Given the description of an element on the screen output the (x, y) to click on. 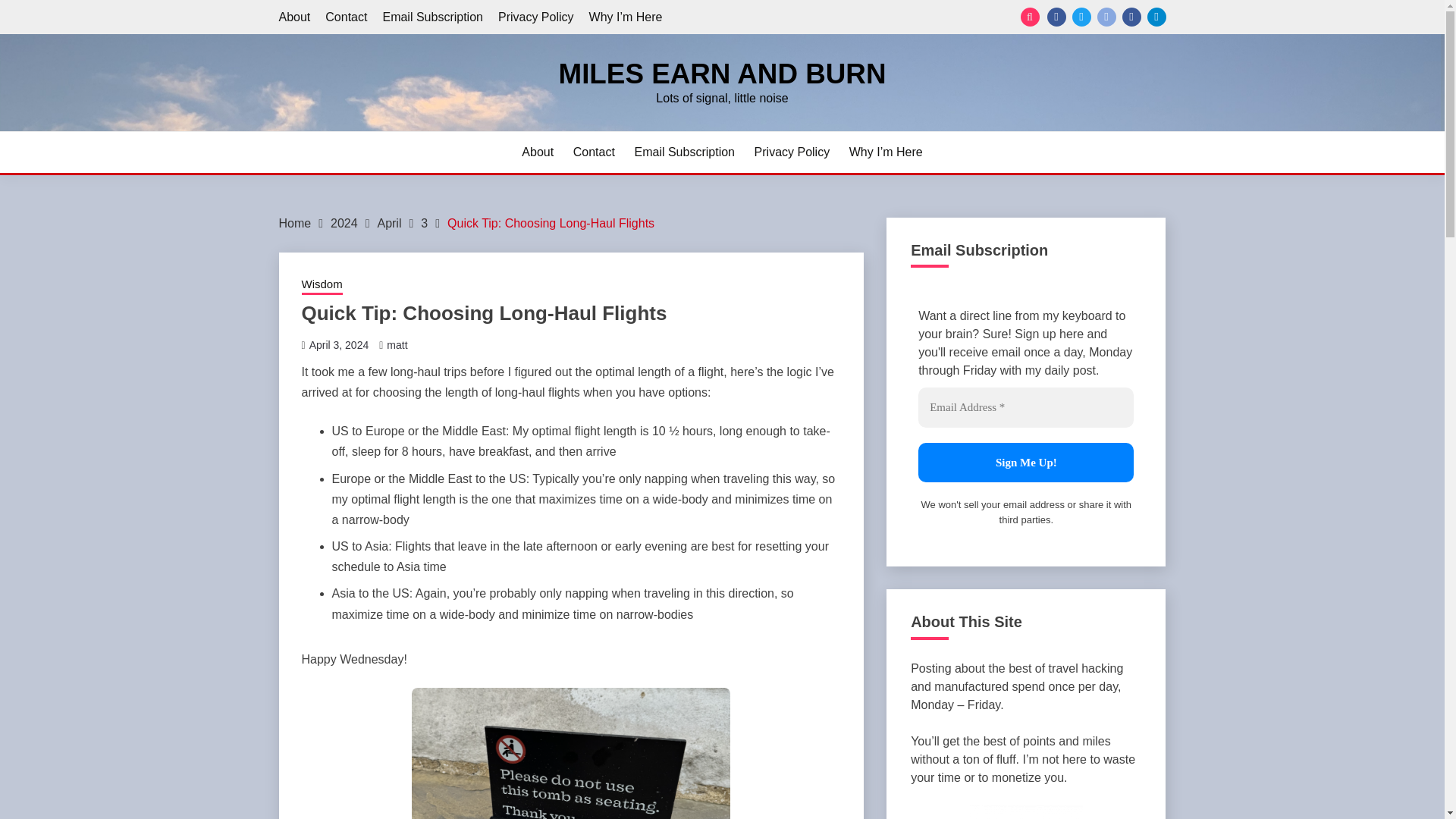
Email Subscription (432, 16)
MILES EARN AND BURN (721, 73)
RSS (1055, 16)
April (389, 223)
Search (832, 18)
Home (295, 223)
matt (397, 345)
About (295, 16)
Facebook (1131, 16)
Quick Tip: Choosing Long-Haul Flights (549, 223)
Wisdom (321, 285)
Privacy Policy (535, 16)
2024 (344, 223)
Email (1105, 16)
Email Subscription (684, 152)
